Given the description of an element on the screen output the (x, y) to click on. 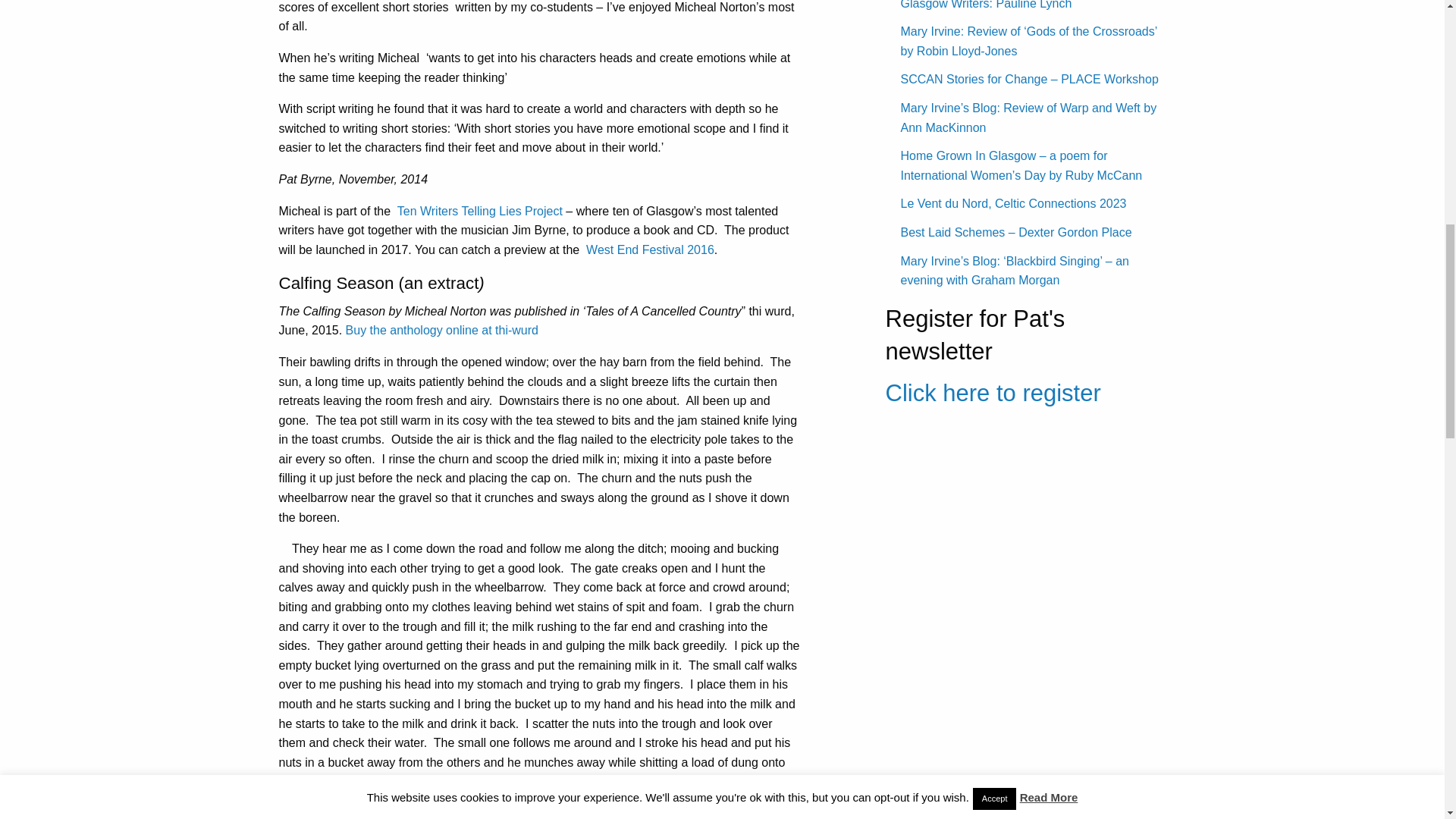
Ten Writers Telling Lies Project (481, 210)
West End Festival 2016 (650, 249)
Buy the anthology online at thi-wurd (442, 329)
